Given the description of an element on the screen output the (x, y) to click on. 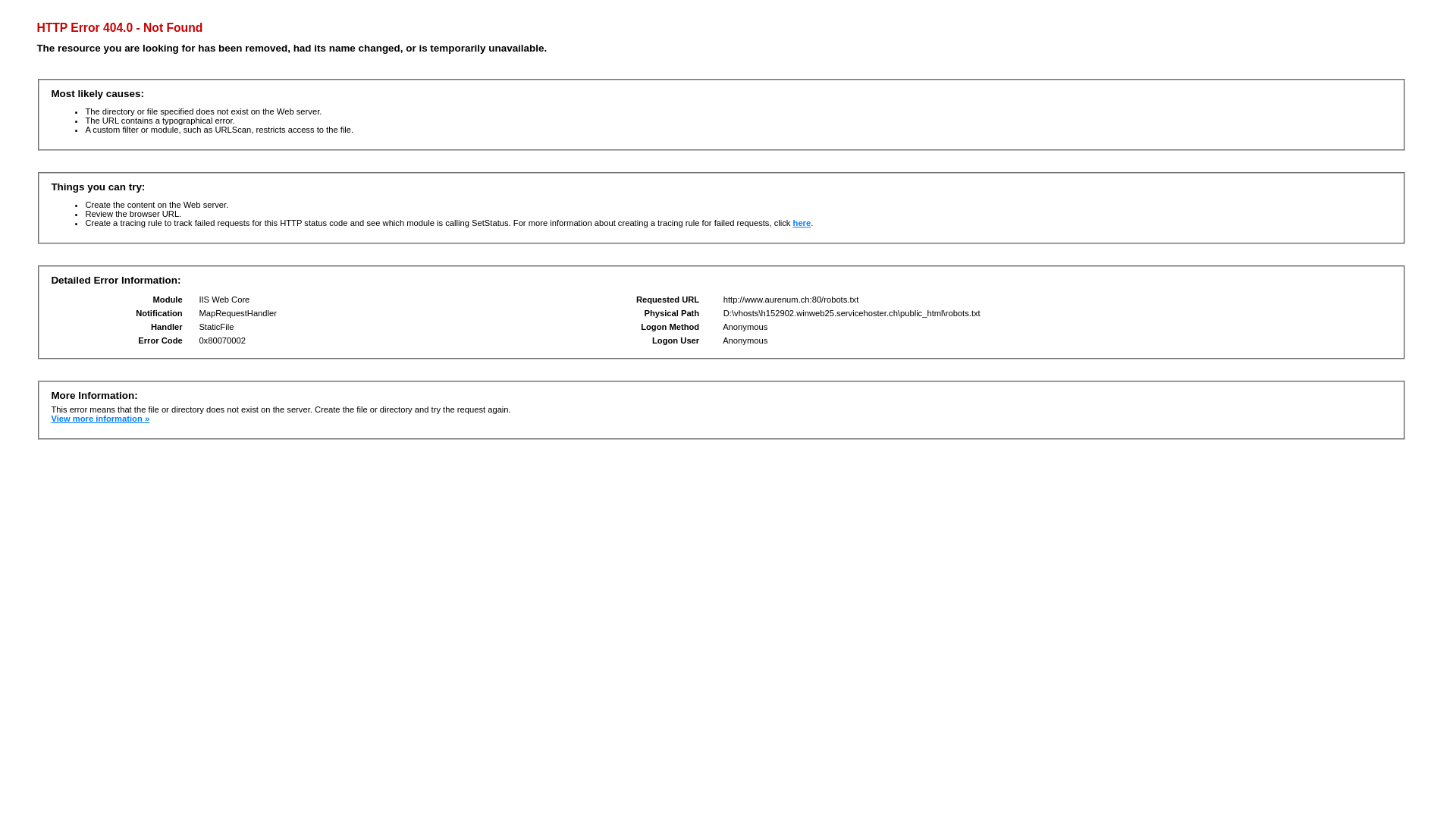
here Element type: text (802, 222)
